Given the description of an element on the screen output the (x, y) to click on. 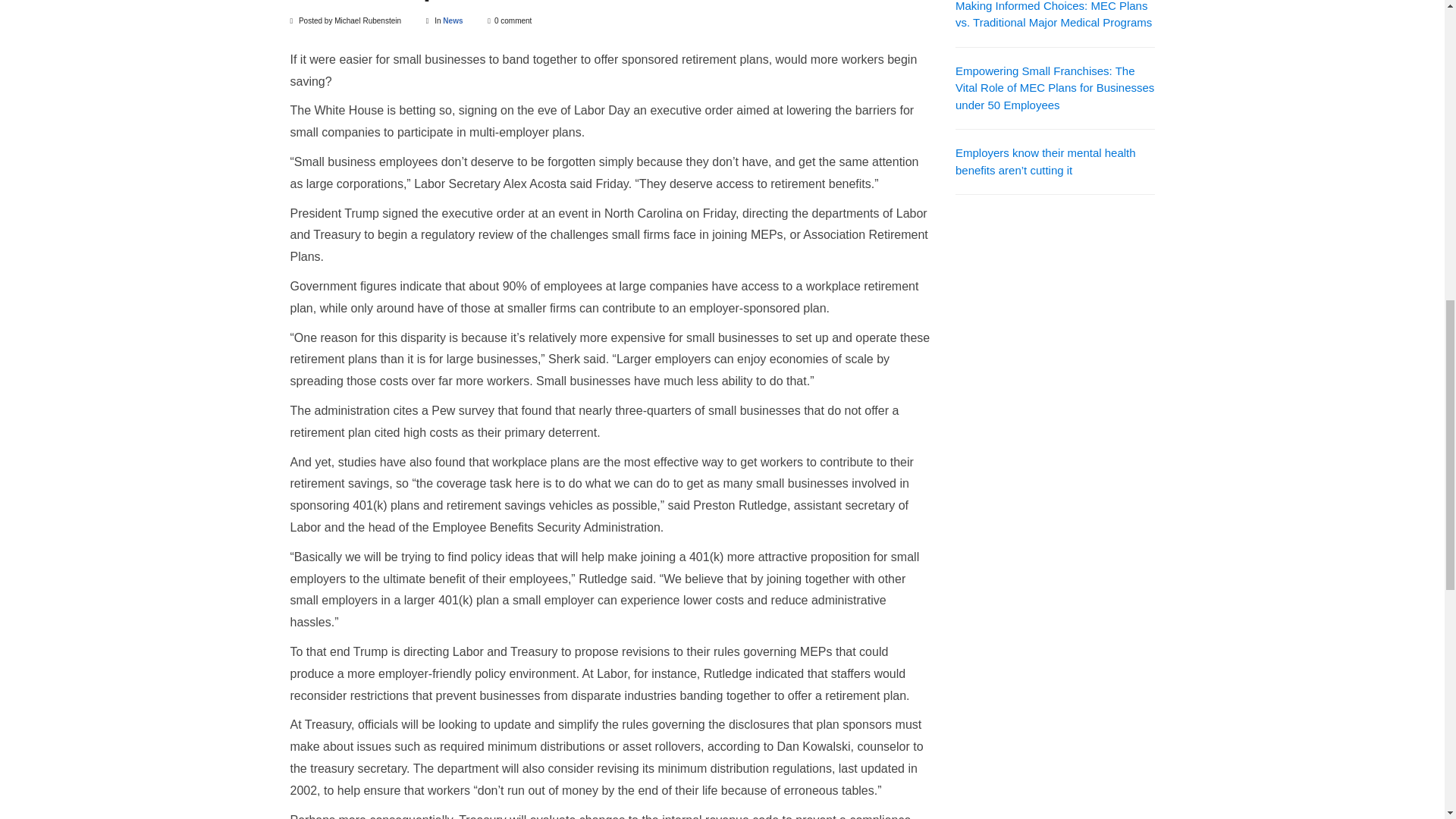
News (452, 20)
